Given the description of an element on the screen output the (x, y) to click on. 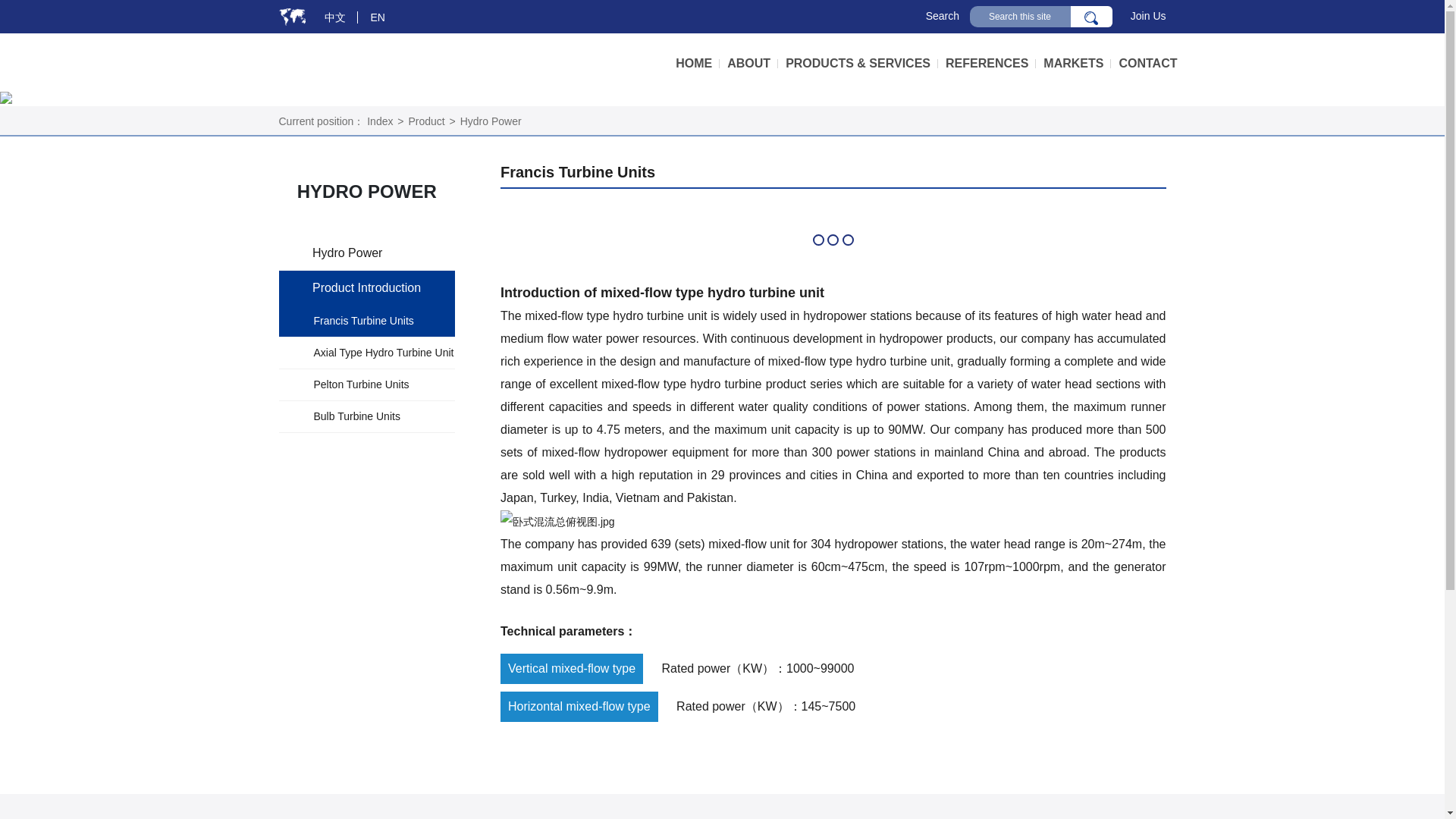
EN (378, 16)
REFERENCES (989, 63)
ABOUT (751, 63)
HOME (697, 63)
Join Us (1148, 15)
MARKETS (1076, 63)
CONTACT (1147, 63)
